Given the description of an element on the screen output the (x, y) to click on. 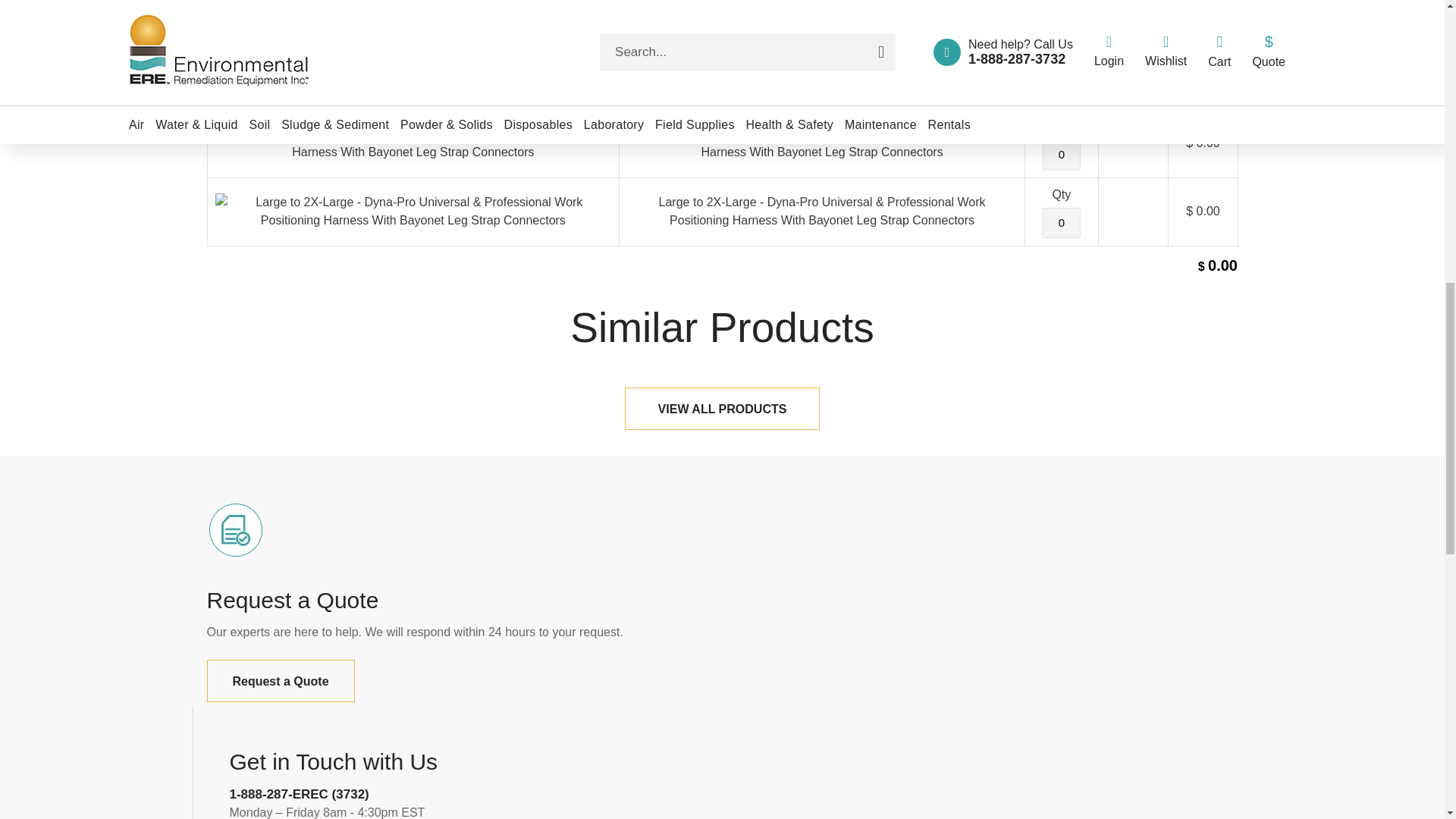
0 (1061, 223)
0 (1061, 154)
